Given the description of an element on the screen output the (x, y) to click on. 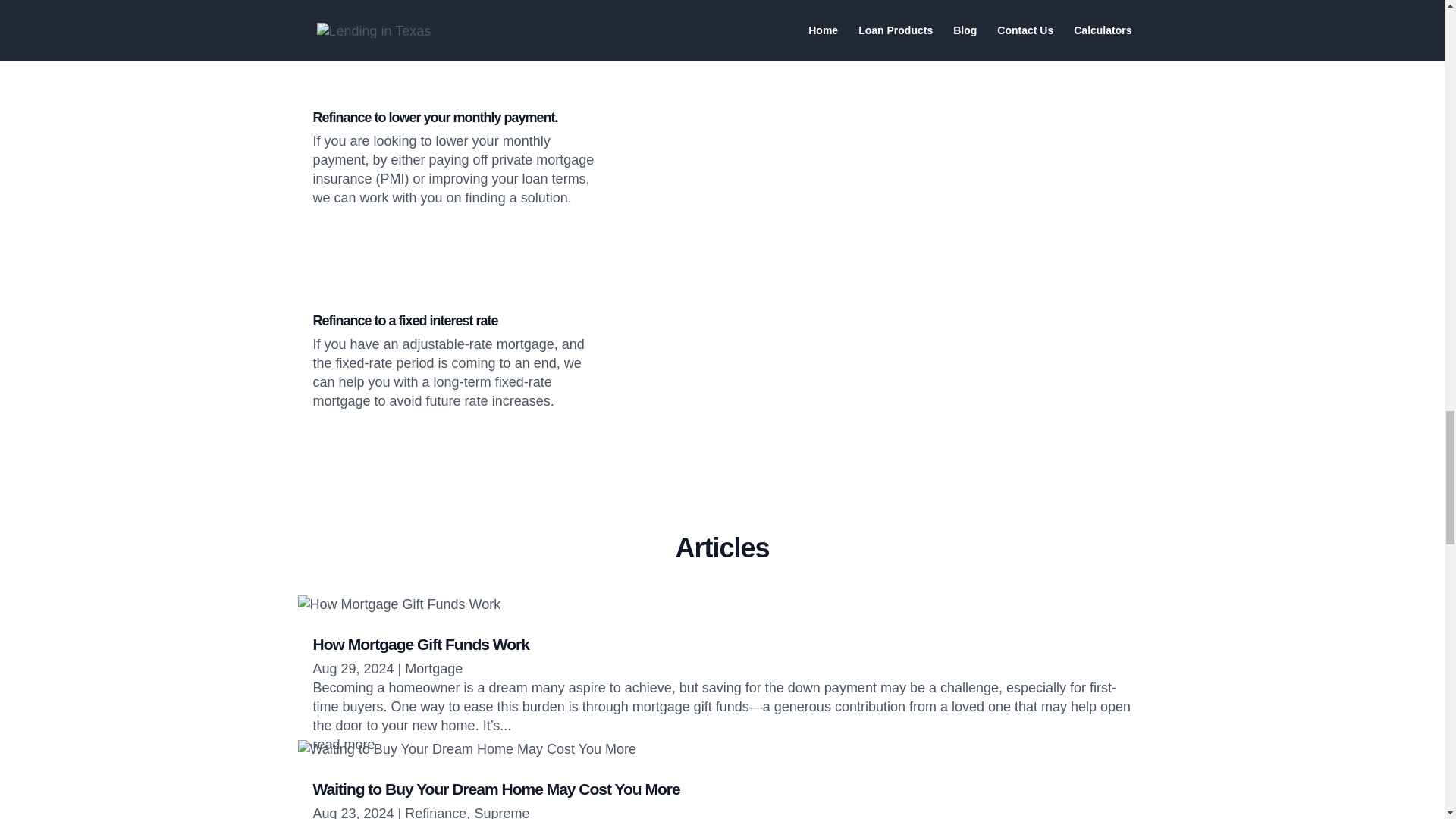
Waiting to Buy Your Dream Home May Cost You More (496, 788)
Mortgage (433, 668)
read more (343, 744)
How Mortgage Gift Funds Work (420, 643)
Supreme (501, 812)
Refinance (434, 812)
